Given the description of an element on the screen output the (x, y) to click on. 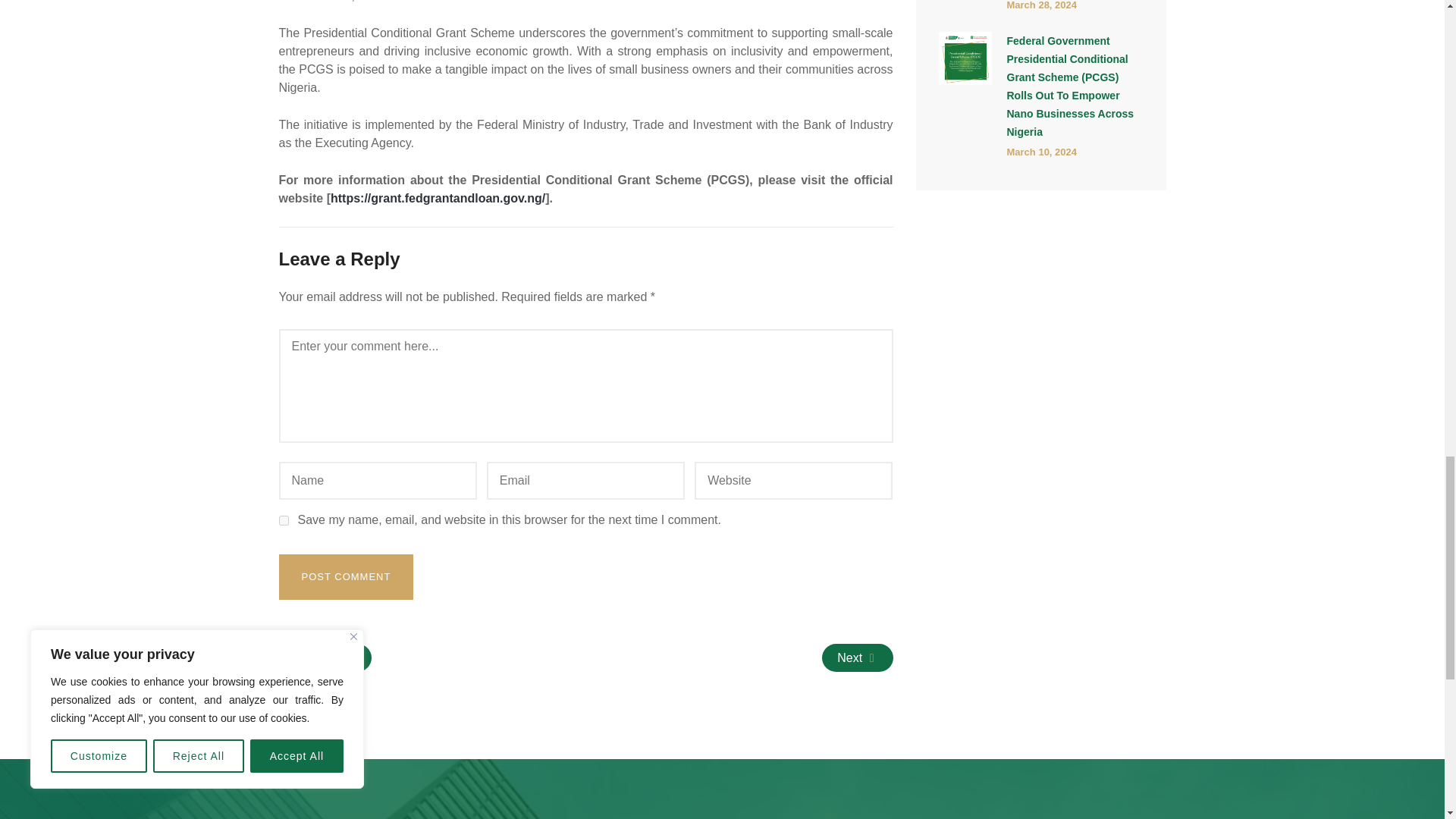
yes (283, 520)
Post Comment (346, 576)
